Given the description of an element on the screen output the (x, y) to click on. 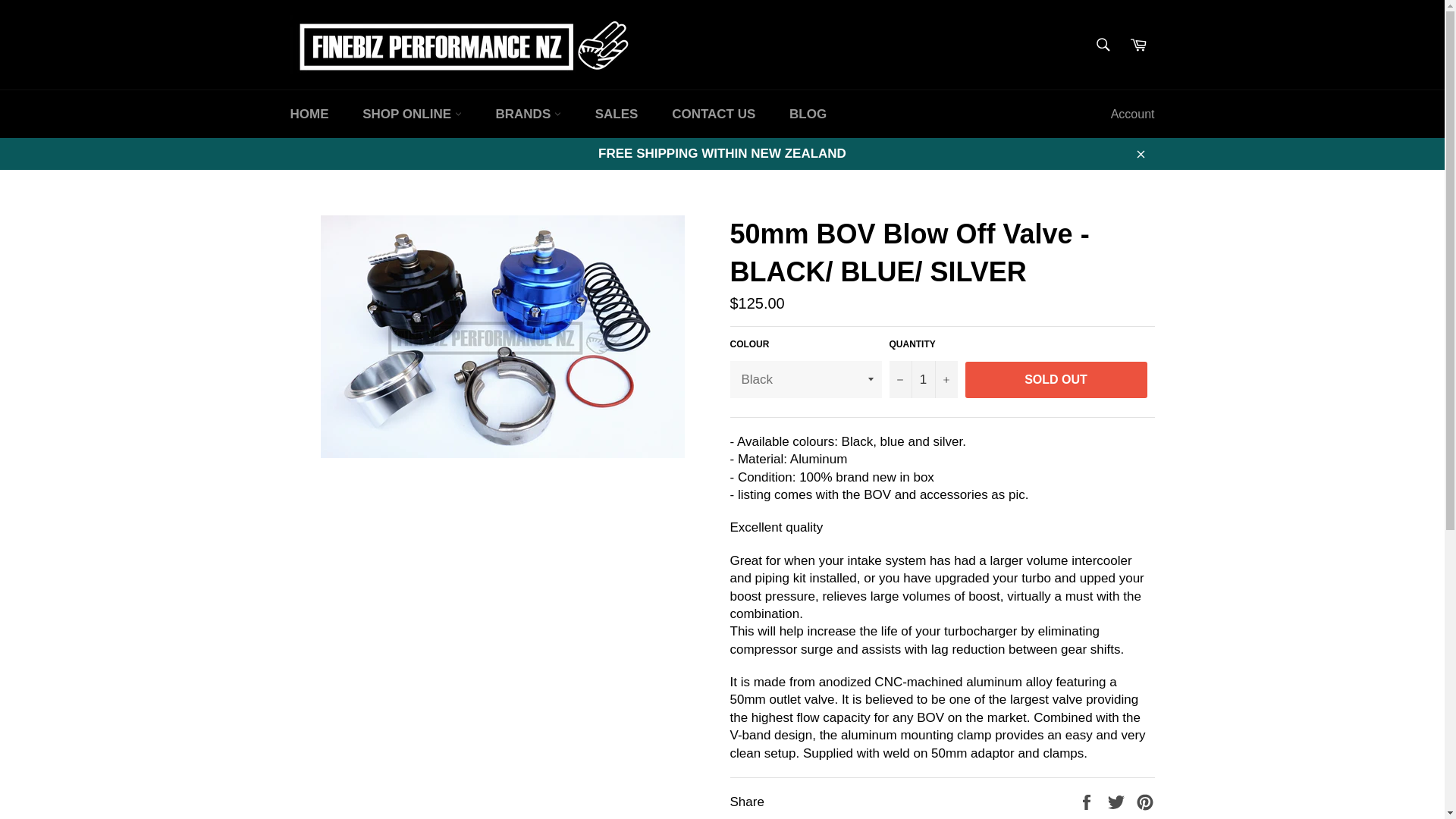
Pin on Pinterest (1144, 801)
Tweet on Twitter (1117, 801)
Share on Facebook (1088, 801)
1 (922, 379)
